Given the description of an element on the screen output the (x, y) to click on. 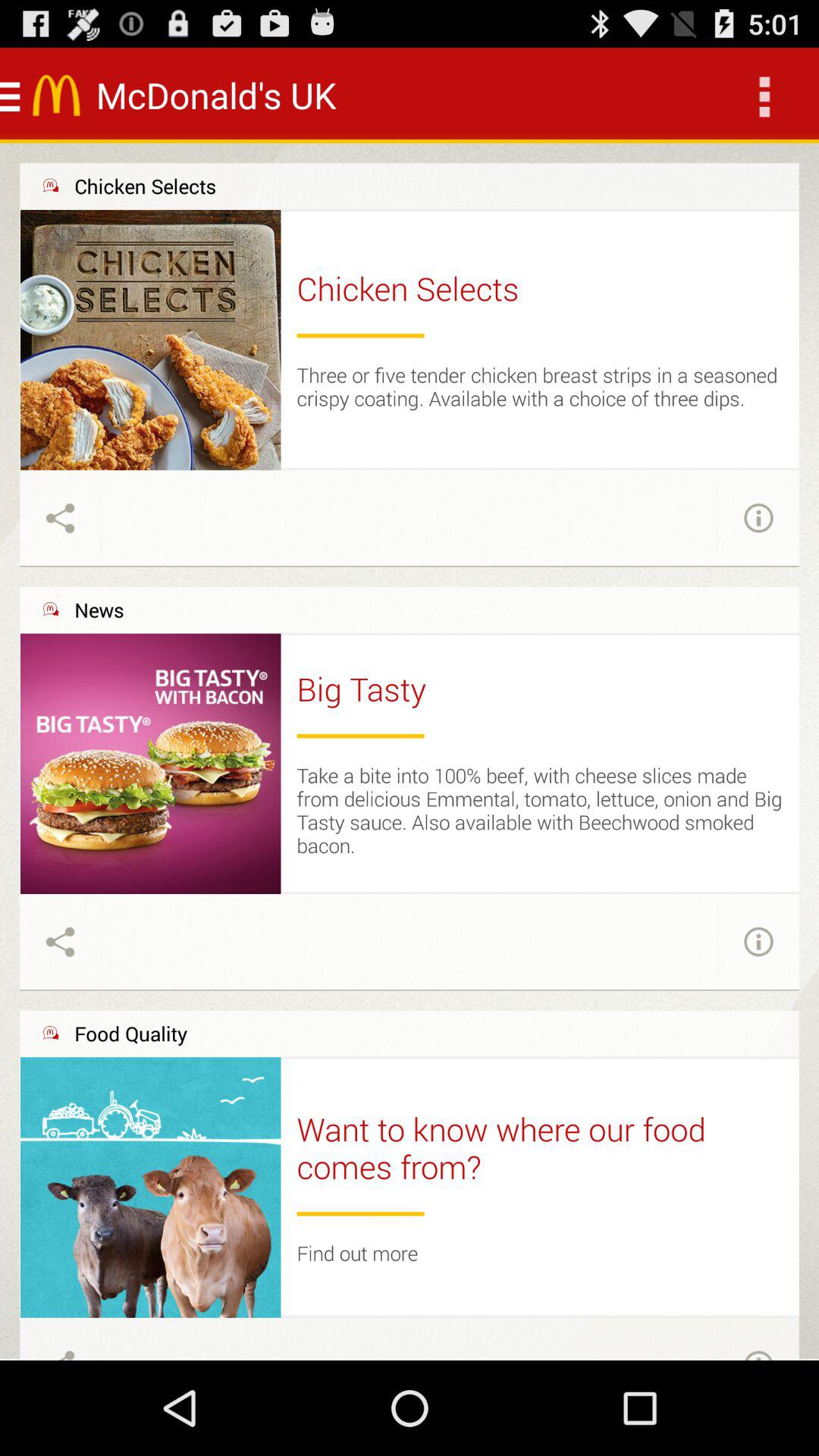
jump to the find out more icon (357, 1252)
